Given the description of an element on the screen output the (x, y) to click on. 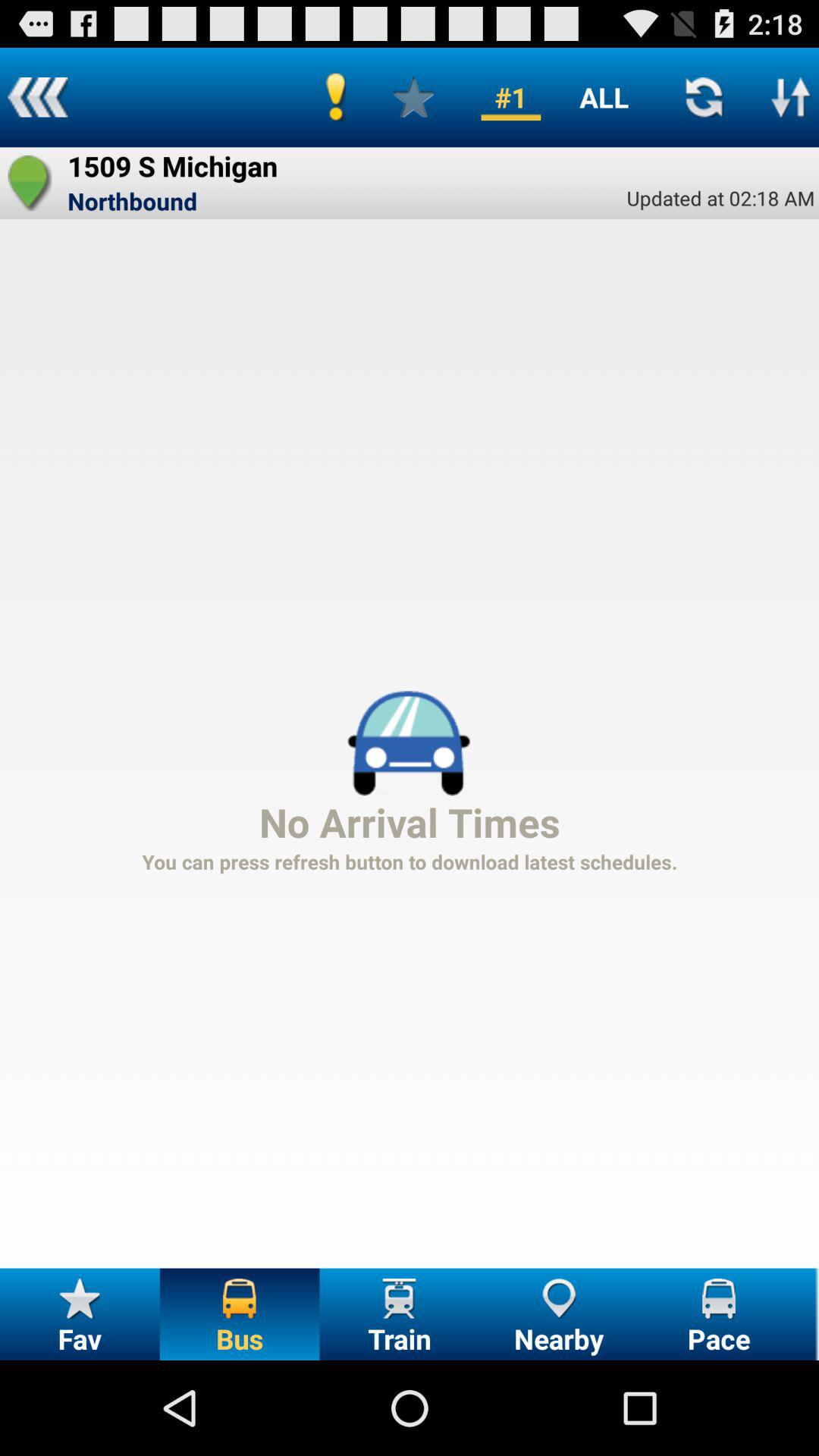
press all  button (603, 97)
